Given the description of an element on the screen output the (x, y) to click on. 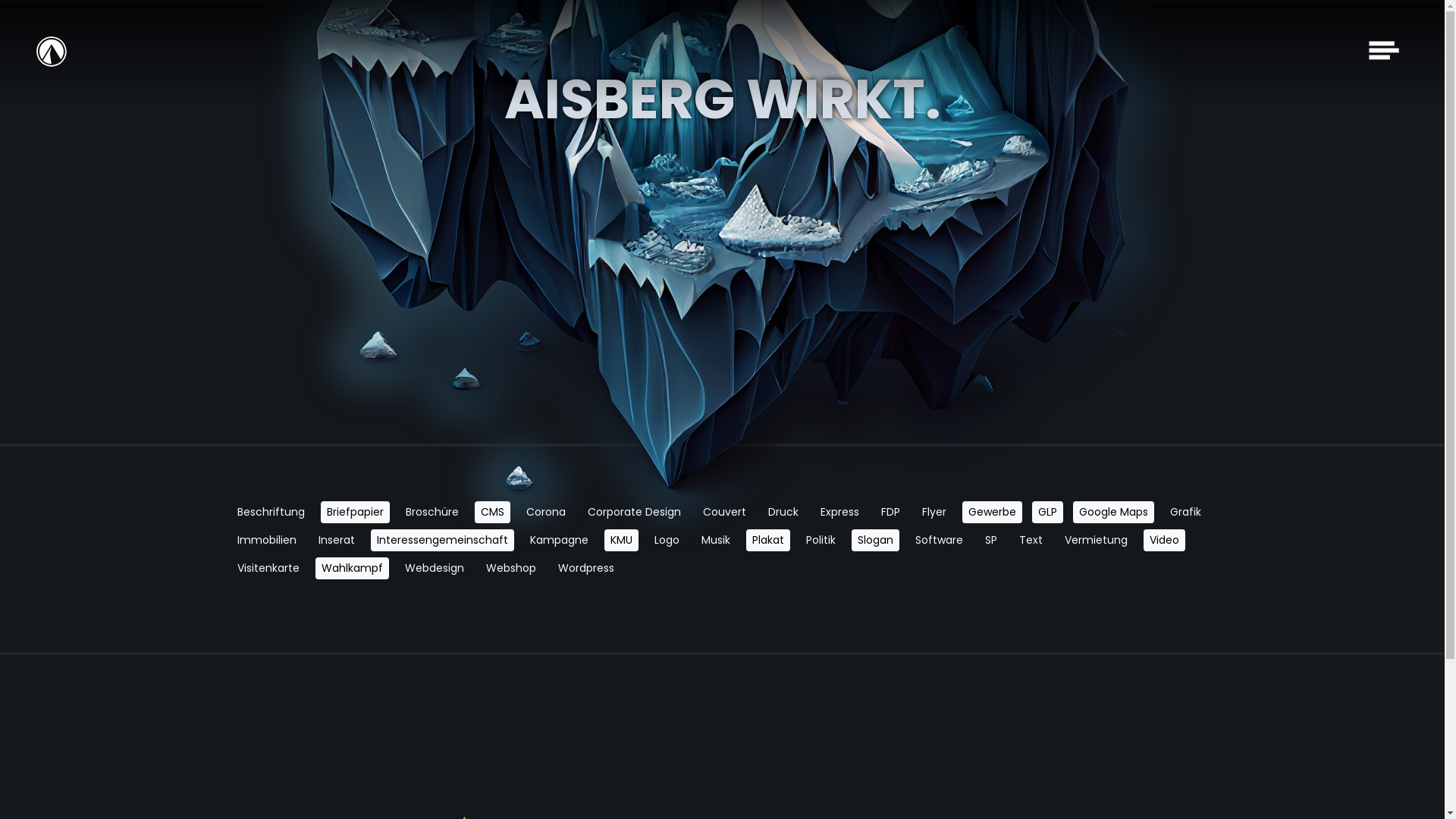
Grafik Element type: text (1184, 513)
Corona Element type: text (545, 519)
Slogan Element type: text (874, 537)
FDP Element type: text (890, 516)
CMS Element type: text (492, 520)
KMU Element type: text (620, 539)
Musik Element type: text (714, 538)
Flyer Element type: text (934, 516)
Wahlkampf Element type: text (352, 562)
Vermietung Element type: text (1095, 535)
Couvert Element type: text (723, 518)
Corporate Design Element type: text (633, 519)
Video Element type: text (1164, 535)
Software Element type: text (938, 536)
Inserat Element type: text (336, 541)
GLP Element type: text (1046, 515)
Plakat Element type: text (768, 538)
Webshop Element type: text (510, 561)
Visitenkarte Element type: text (267, 563)
Interessengemeinschaft Element type: text (441, 540)
Text Element type: text (1030, 535)
Beschriftung Element type: text (270, 522)
Immobilien Element type: text (265, 541)
Politik Element type: text (819, 537)
Express Element type: text (839, 517)
Google Maps Element type: text (1112, 514)
SP Element type: text (990, 535)
Logo Element type: text (665, 538)
Briefpapier Element type: text (354, 522)
Kampagne Element type: text (558, 539)
Webdesign Element type: text (434, 562)
Wordpress Element type: text (586, 561)
Druck Element type: text (782, 518)
Gewerbe Element type: text (991, 516)
